Given the description of an element on the screen output the (x, y) to click on. 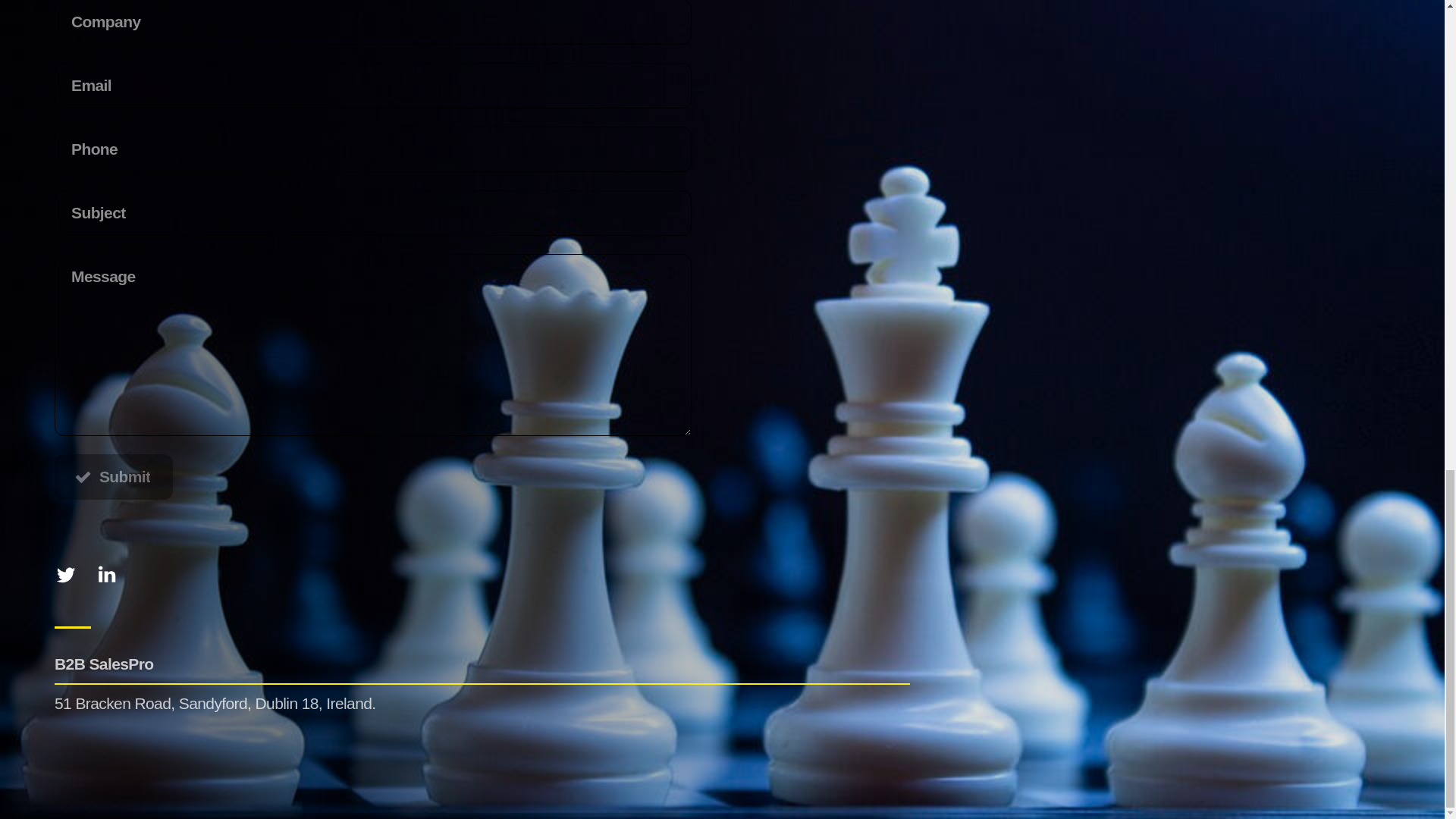
Submit (114, 476)
